Given the description of an element on the screen output the (x, y) to click on. 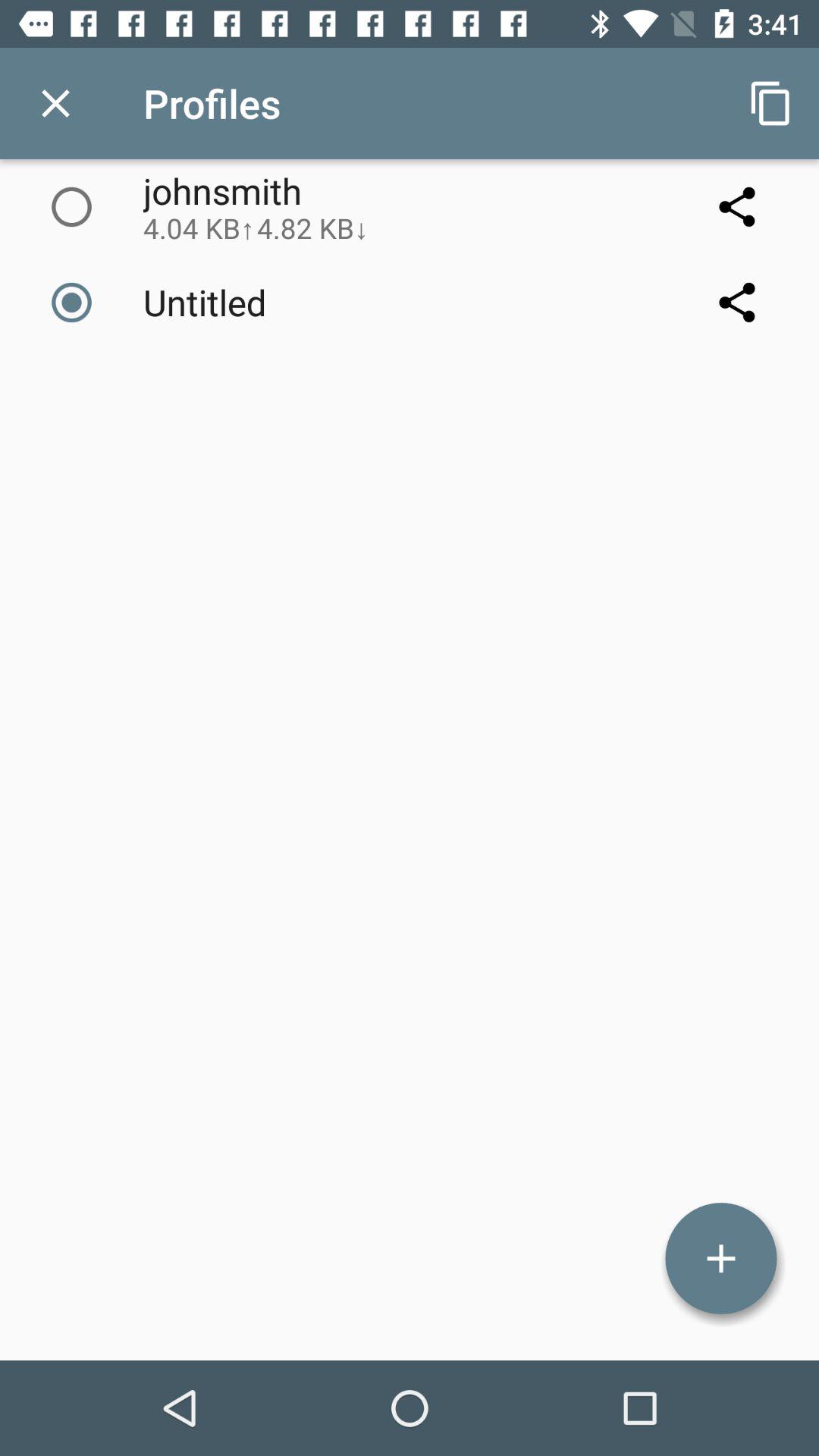
close the menu (55, 103)
